Given the description of an element on the screen output the (x, y) to click on. 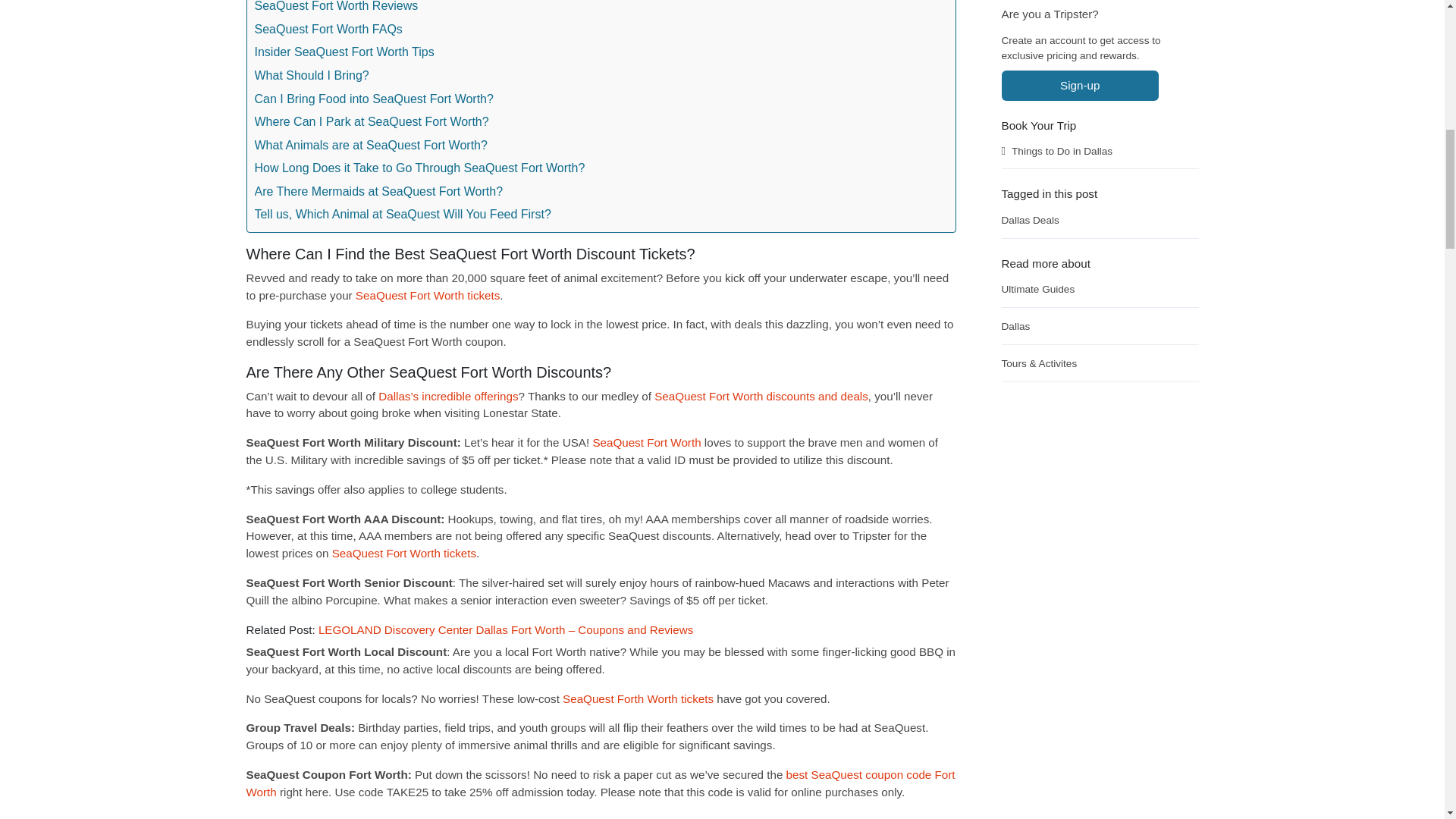
What Animals are at SeaQuest Fort Worth? (370, 143)
SeaQuest Fort Worth FAQs (328, 27)
Can I Bring Food into SeaQuest Fort Worth? (373, 96)
Where Can I Park at SeaQuest Fort Worth? (371, 119)
Insider SeaQuest Fort Worth Tips (343, 50)
SeaQuest Fort Worth Reviews (336, 7)
What Should I Bring? (311, 73)
Are There Mermaids at SeaQuest Fort Worth? (378, 189)
How Long Does it Take to Go Through SeaQuest Fort Worth? (419, 166)
Tell us, Which Animal at SeaQuest Will You Feed First? (402, 212)
